Given the description of an element on the screen output the (x, y) to click on. 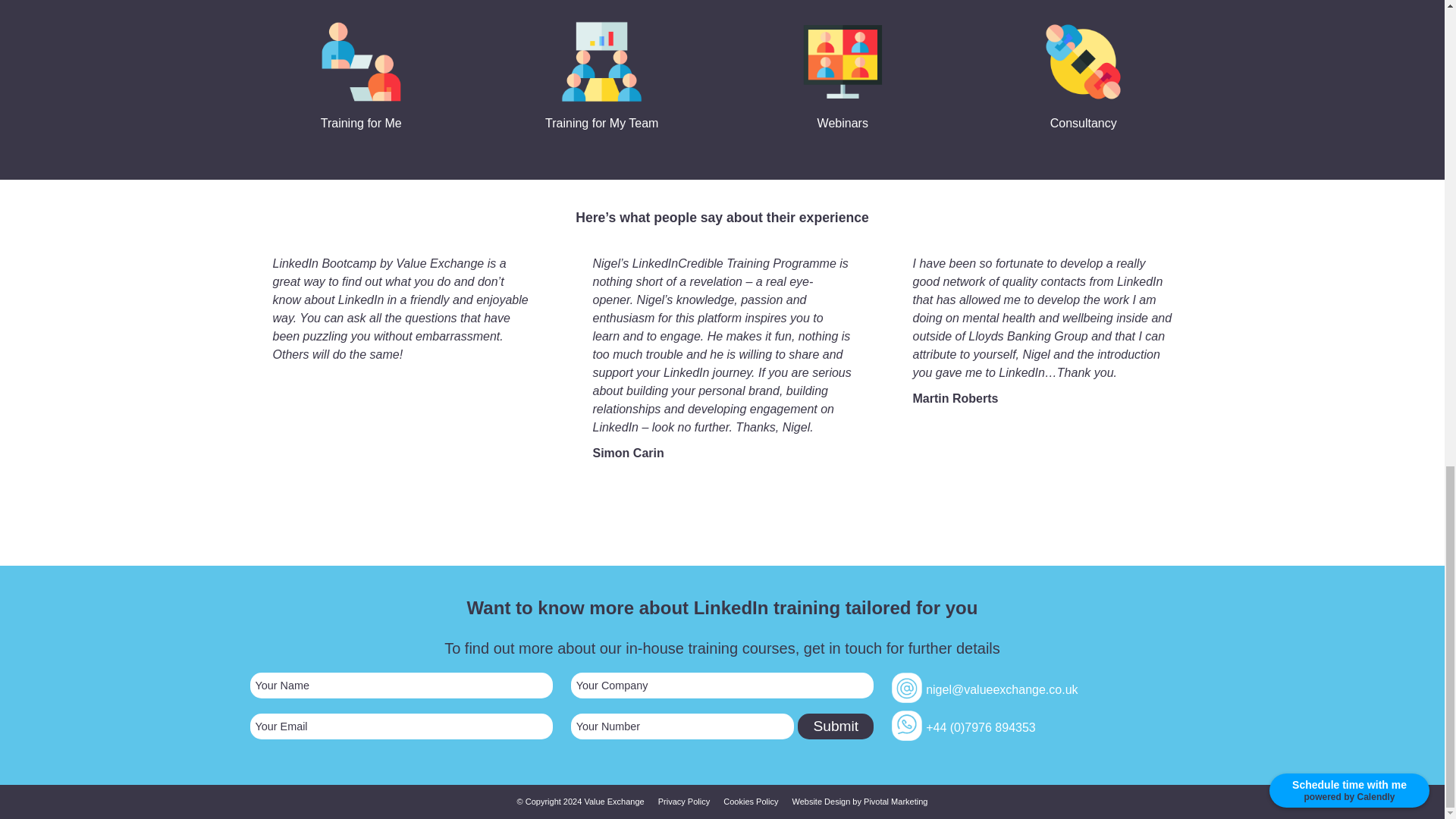
Submit (835, 726)
